Given the description of an element on the screen output the (x, y) to click on. 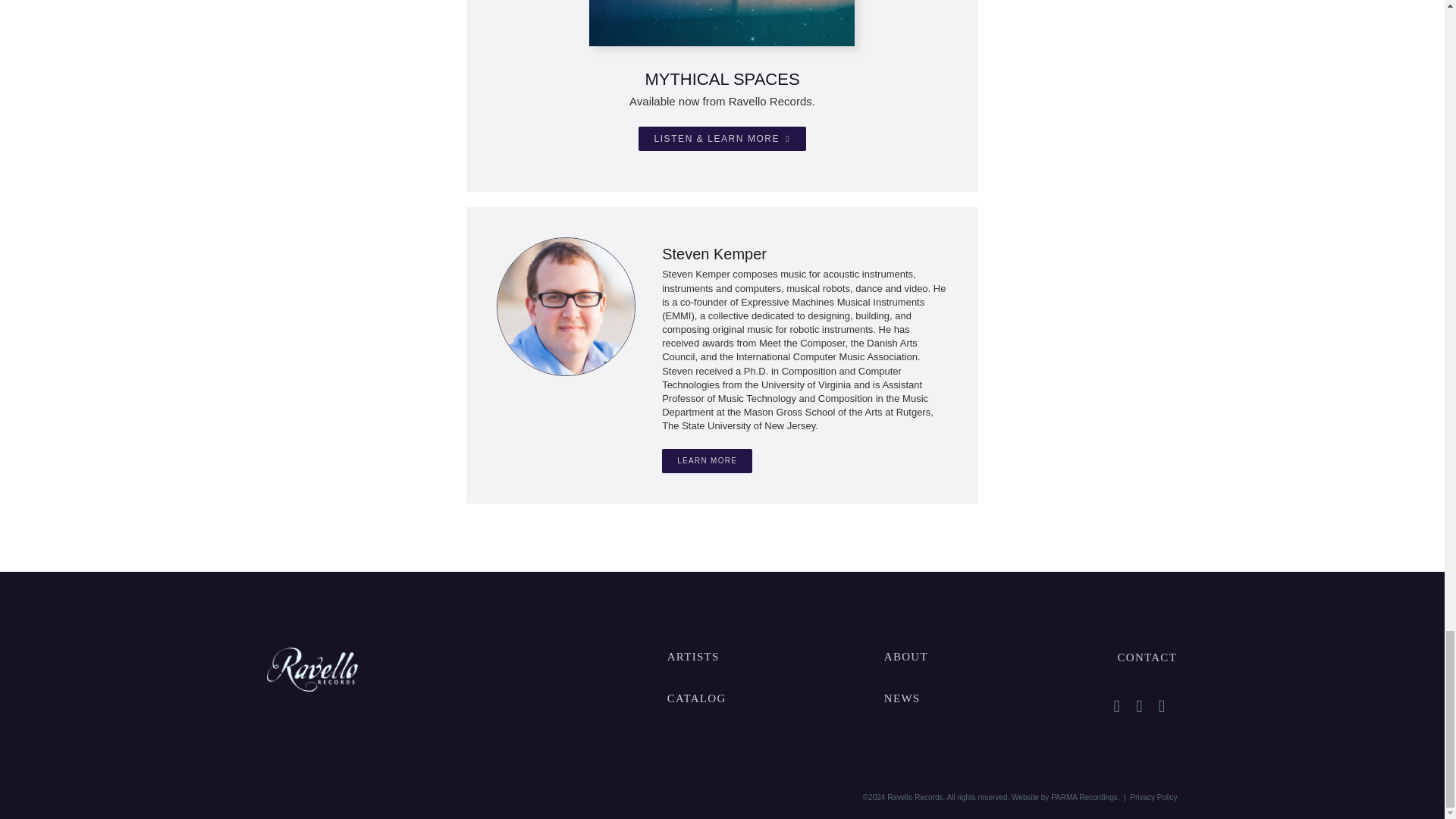
LEARN MORE (707, 460)
Steven-Kemper (565, 306)
NEWS (901, 698)
Privacy Policy (1152, 797)
PARMA Recordings (1084, 797)
Steven Kemper (714, 253)
CATALOG (696, 698)
ABOUT (905, 656)
CONTACT (1146, 657)
ARTISTS (692, 656)
